Given the description of an element on the screen output the (x, y) to click on. 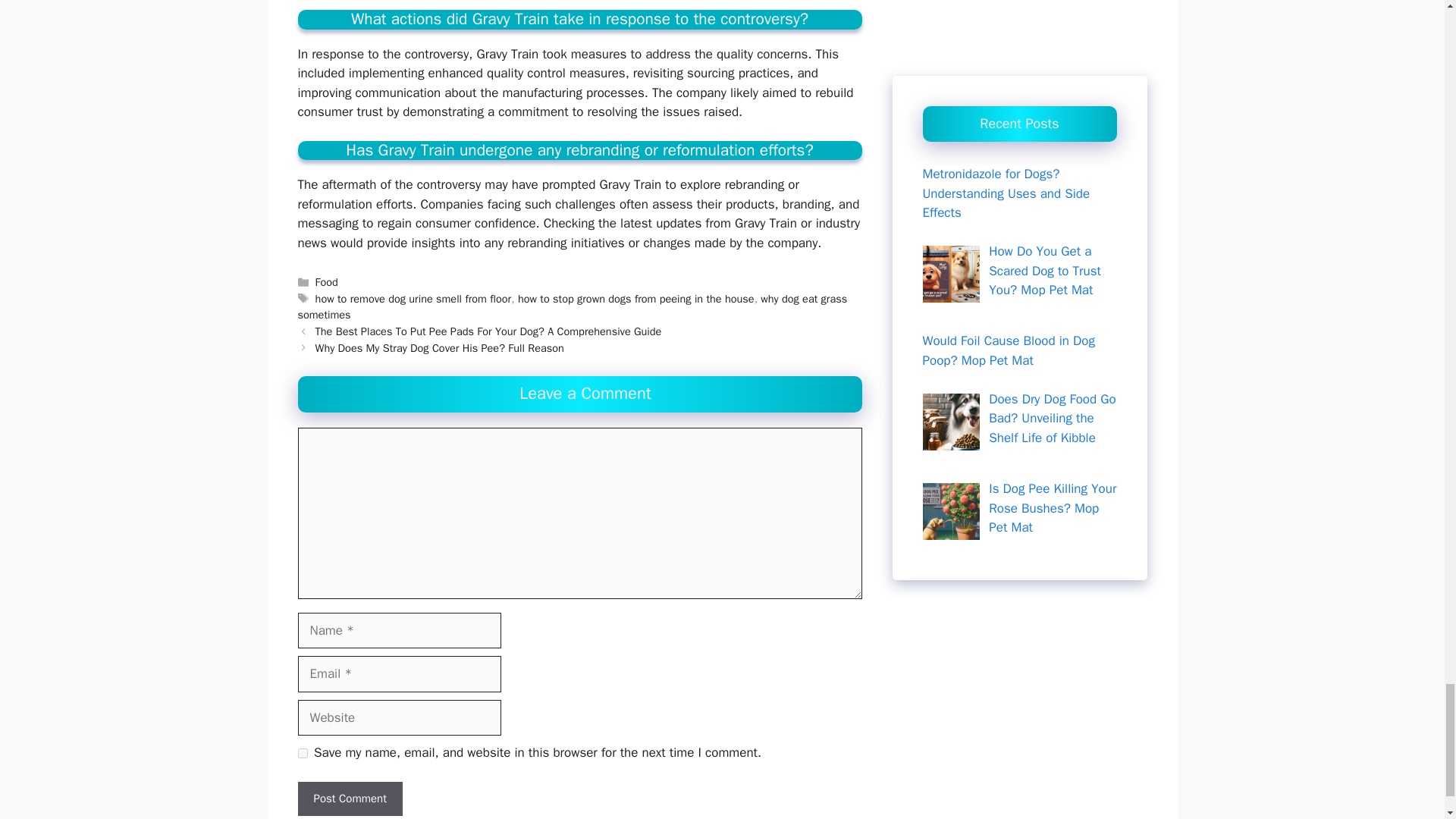
Post Comment (349, 798)
Post Comment (349, 798)
yes (302, 753)
why dog eat grass sometimes (572, 306)
Why Does My Stray Dog Cover His Pee? Full Reason (439, 347)
Food (326, 282)
how to remove dog urine smell from floor (413, 298)
how to stop grown dogs from peeing in the house (636, 298)
